Given the description of an element on the screen output the (x, y) to click on. 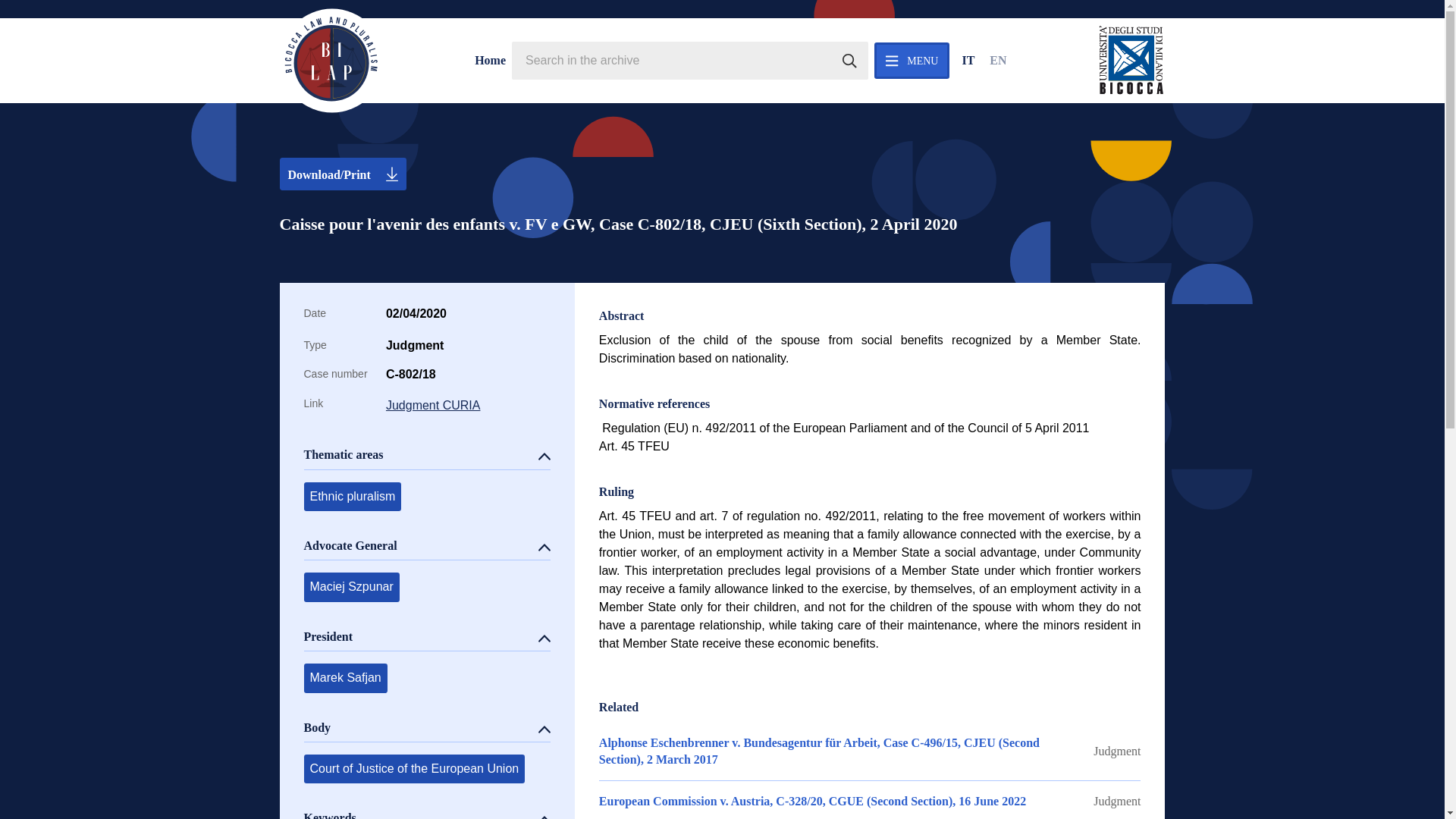
Maciej Szpunar (350, 586)
Home (489, 60)
MENU (912, 60)
Marek Safjan (344, 677)
Ethnic pluralism (351, 496)
Search in the archive (849, 60)
Judgment CURIA (467, 405)
EN (998, 60)
Court of Justice of the European Union (413, 768)
